Given the description of an element on the screen output the (x, y) to click on. 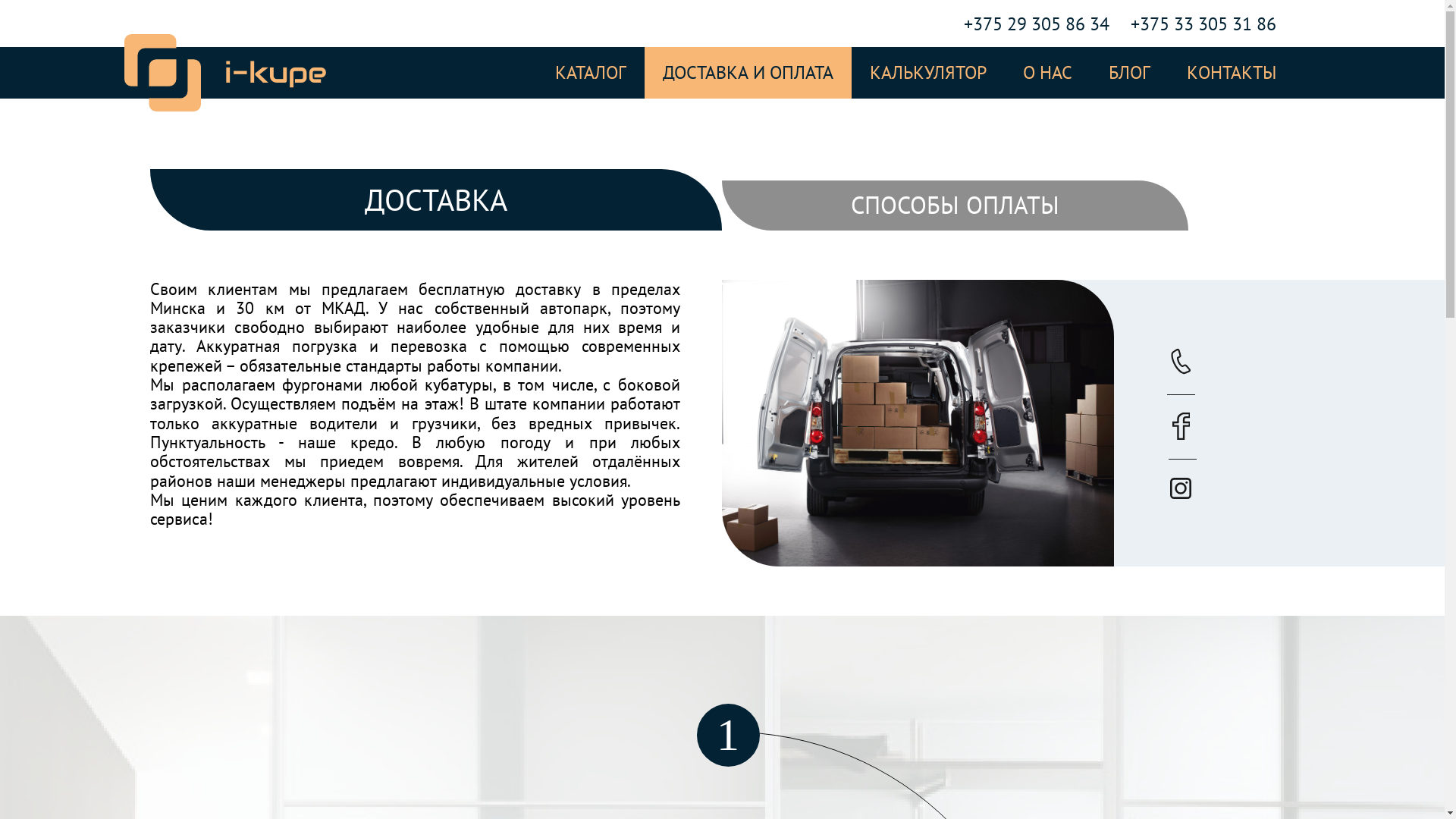
i-kupe Element type: text (225, 72)
+375 29 305 86 34 Element type: text (1036, 23)
+375 33 305 31 86 Element type: text (1203, 23)
